Given the description of an element on the screen output the (x, y) to click on. 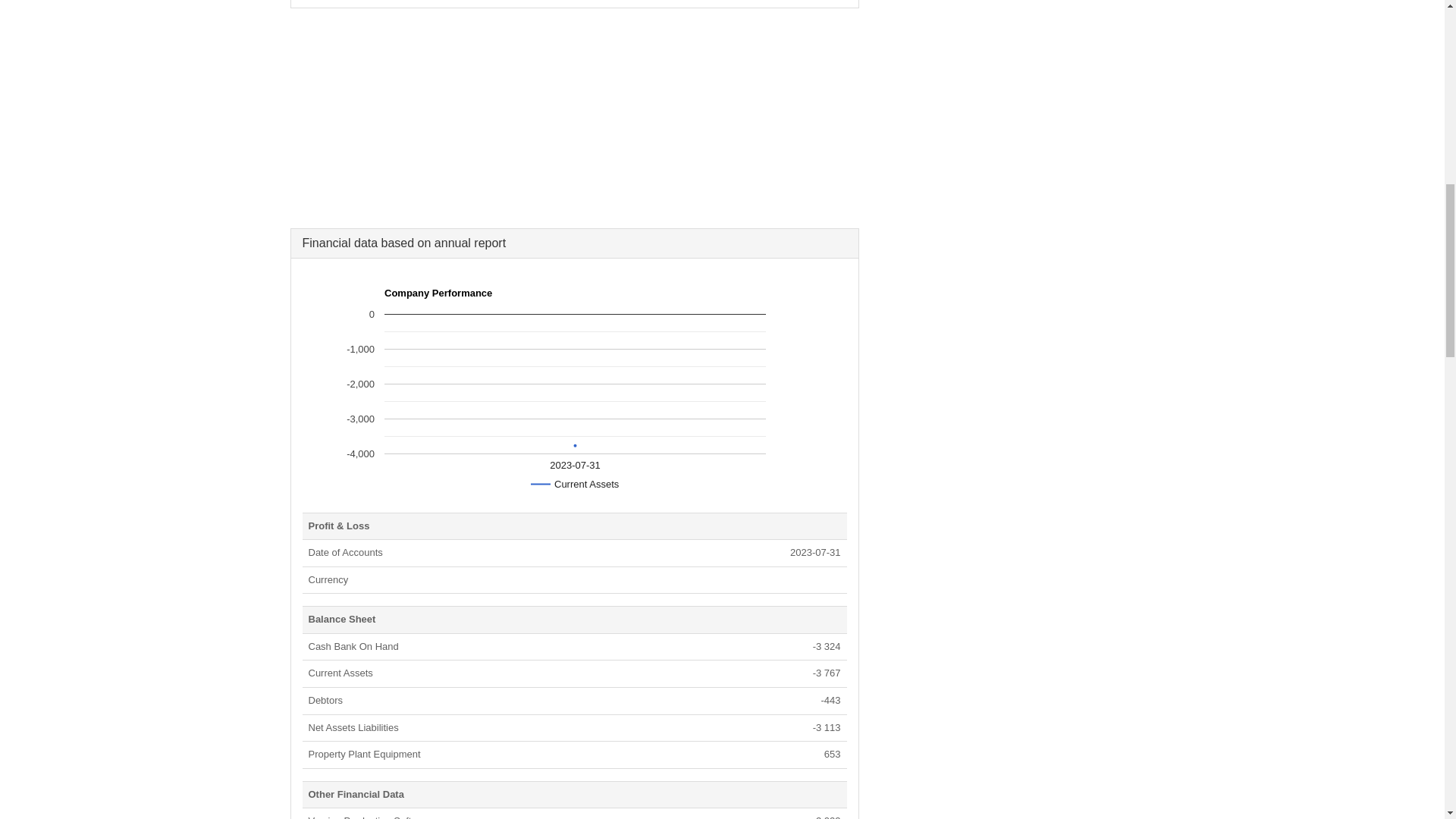
Money that other companies or people owe to the business (324, 699)
Assets to be used or sold within a year (339, 672)
PropertyPlantEquipment (363, 754)
CashBankOnHand (352, 645)
NetAssetsLiabilities (352, 727)
